Given the description of an element on the screen output the (x, y) to click on. 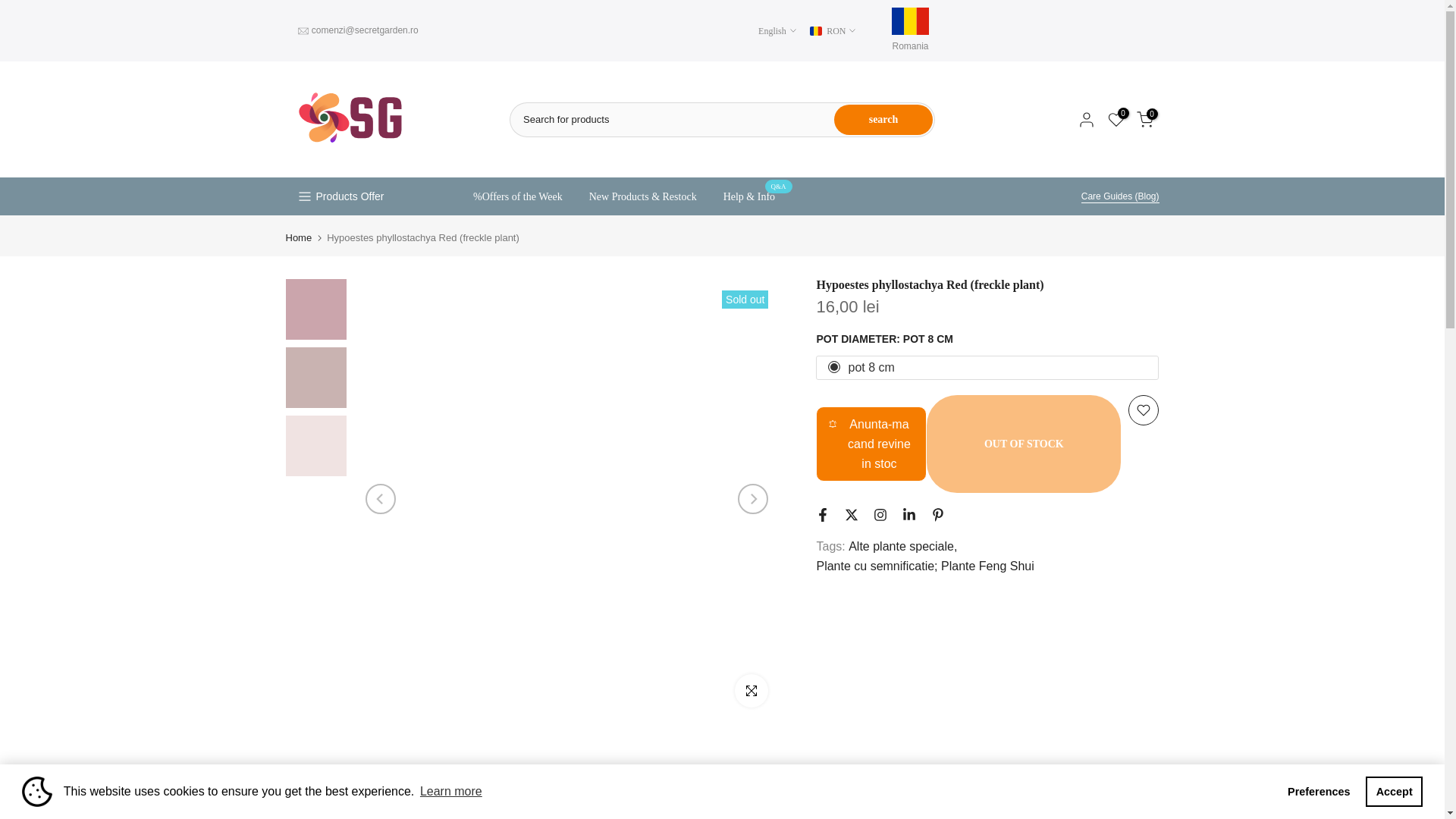
Skip to content (10, 7)
Follow on Instagram (879, 514)
Preferences (1318, 791)
Follow on Twitter (851, 514)
Accept (1393, 791)
English (777, 30)
RON (832, 30)
Follow on Facebook (822, 514)
Learn more (450, 791)
Follow on Pinterest (937, 514)
Follow on Linkedin (908, 514)
